Given the description of an element on the screen output the (x, y) to click on. 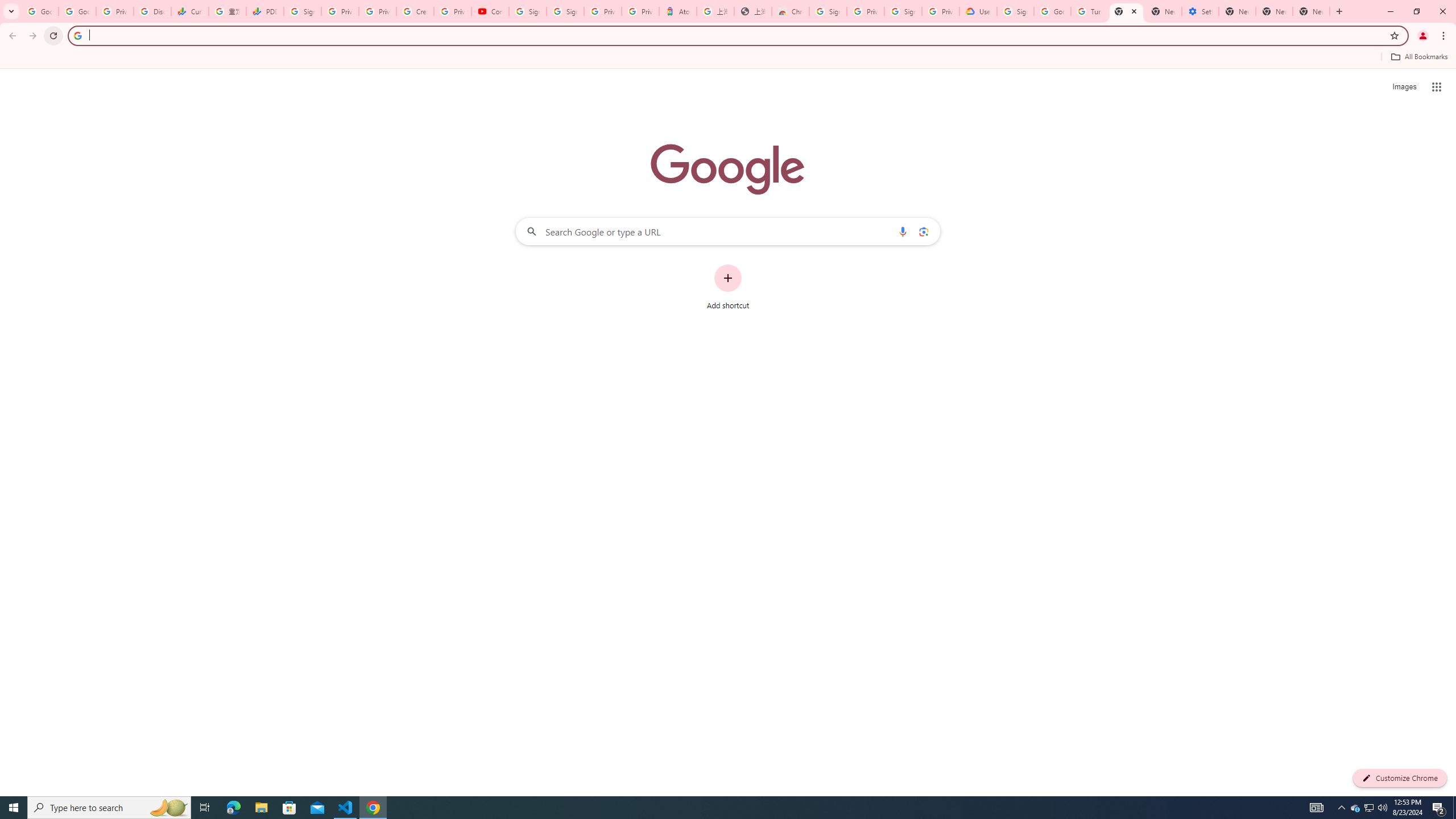
Turn cookies on or off - Computer - Google Account Help (1088, 11)
Sign in - Google Accounts (827, 11)
Sign in - Google Accounts (1015, 11)
Google Workspace Admin Community (40, 11)
Atour Hotel - Google hotels (677, 11)
Chrome Web Store - Color themes by Chrome (790, 11)
Sign in - Google Accounts (565, 11)
New Tab (1311, 11)
